Given the description of an element on the screen output the (x, y) to click on. 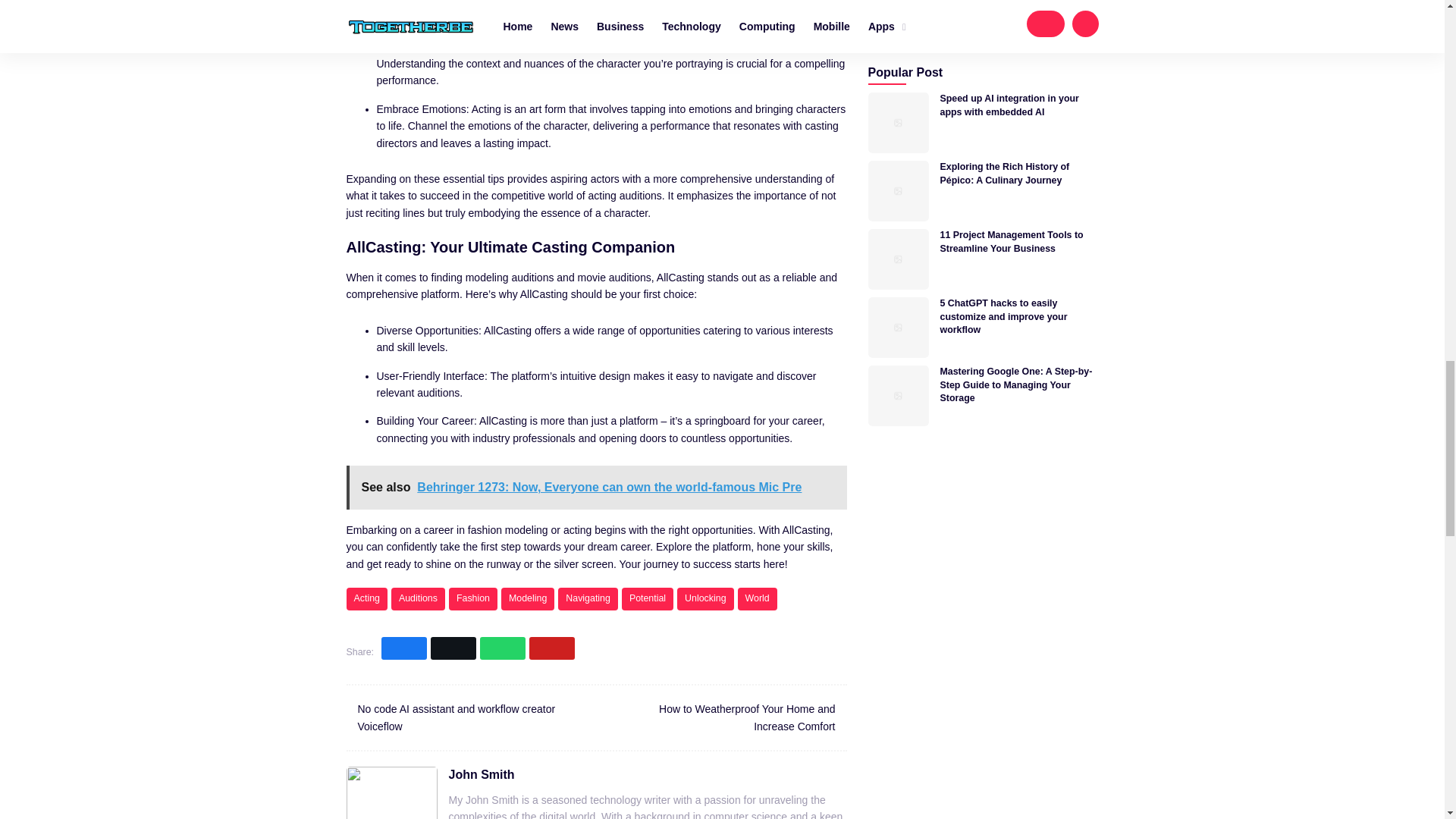
Share on Facebook (403, 648)
Share on Whatsapp (502, 648)
Share on Email (552, 648)
Share on Twitter (453, 648)
